Given the description of an element on the screen output the (x, y) to click on. 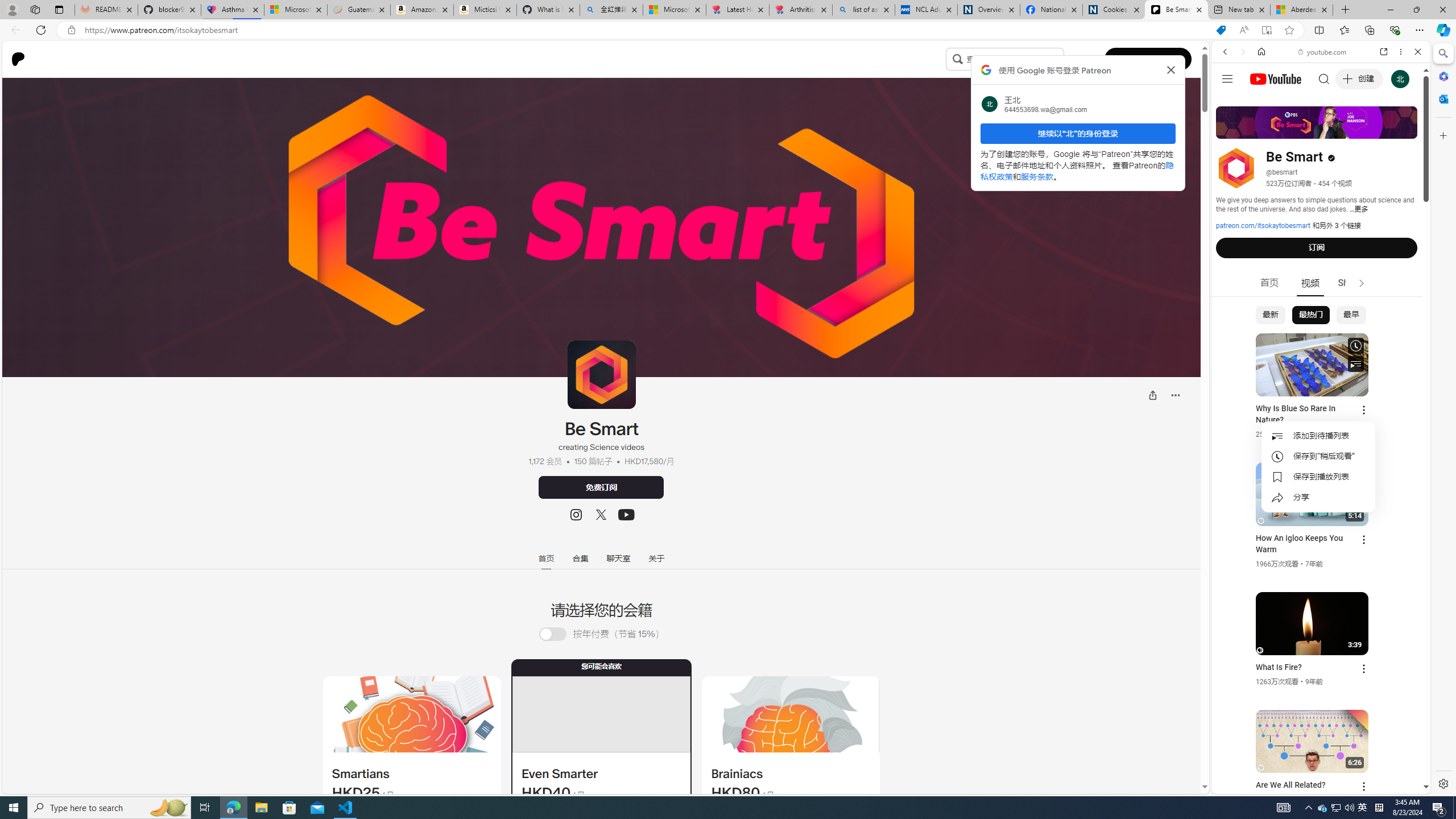
Shorts (1351, 283)
